Given the description of an element on the screen output the (x, y) to click on. 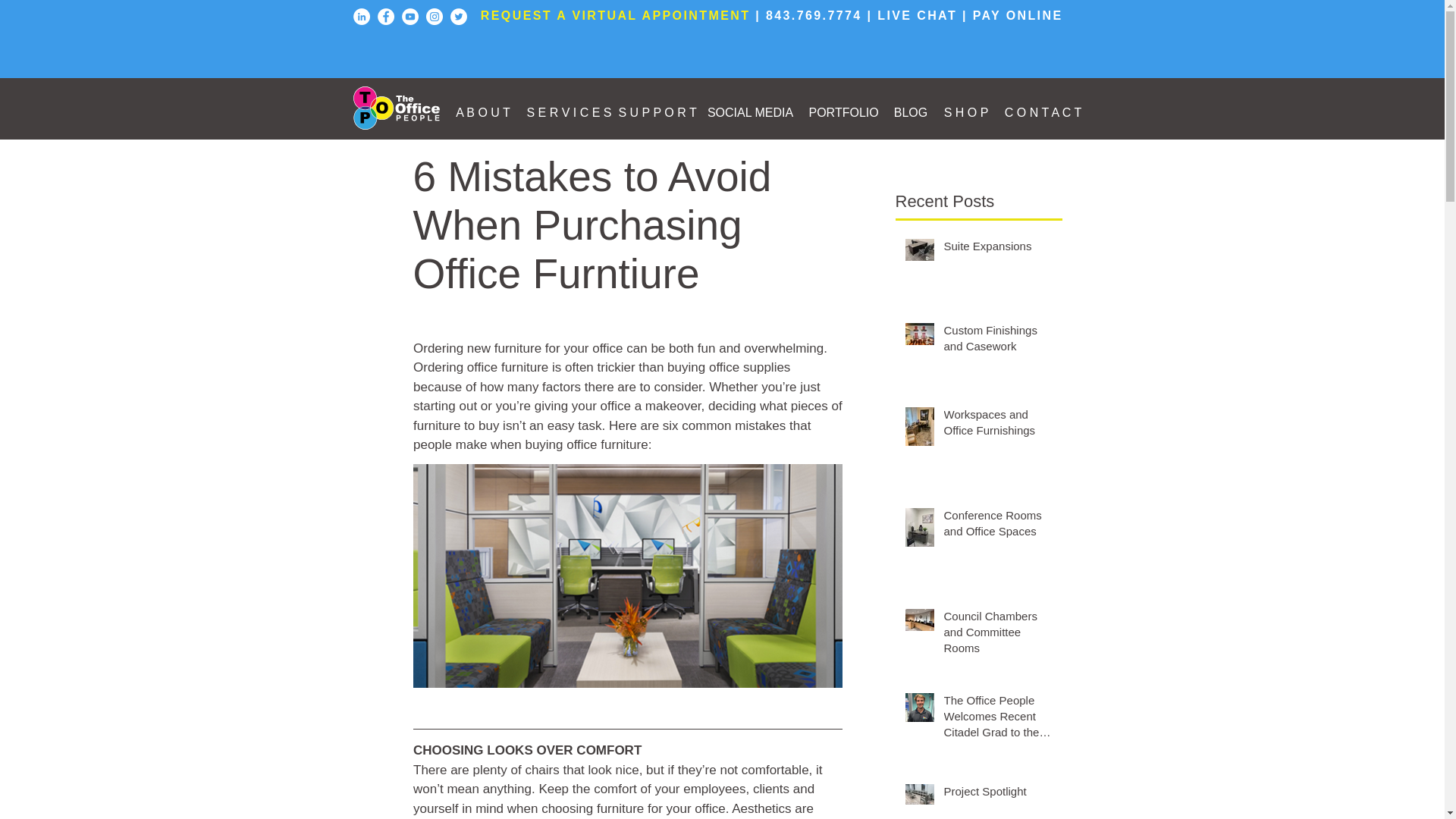
843.769.7774 (813, 15)
PAY ONLINE (1017, 15)
REQUEST A VIRTUAL APPOINTMENT (615, 15)
S U P P O R T (655, 112)
LIVE CHAT (916, 15)
C O N T A C T (1042, 112)
S H O P (965, 112)
BLOG (910, 112)
PORTFOLIO (842, 112)
SOCIAL MEDIA (749, 112)
